Given the description of an element on the screen output the (x, y) to click on. 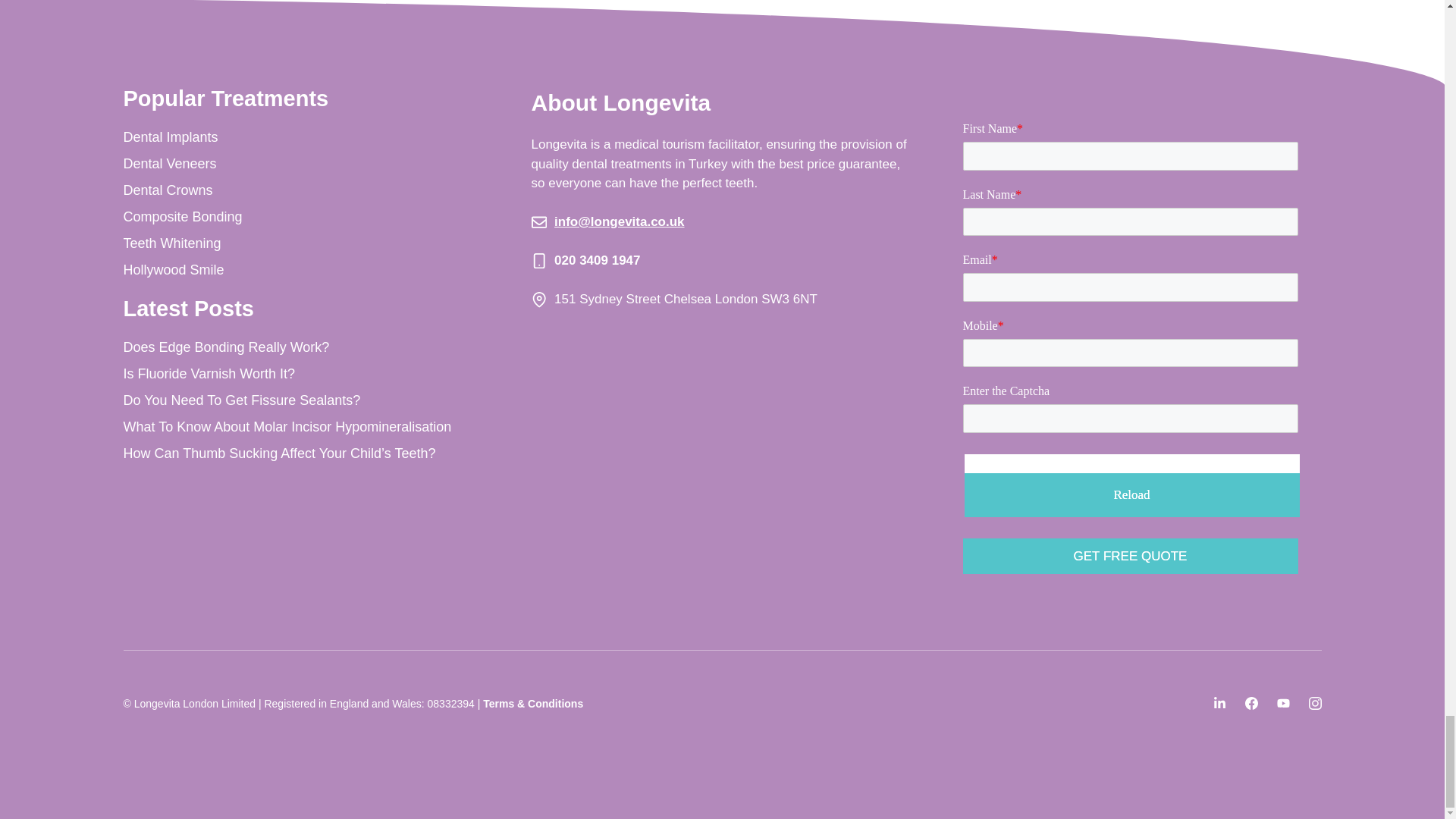
GET FREE QUOTE (1130, 556)
Submit (1130, 556)
